Given the description of an element on the screen output the (x, y) to click on. 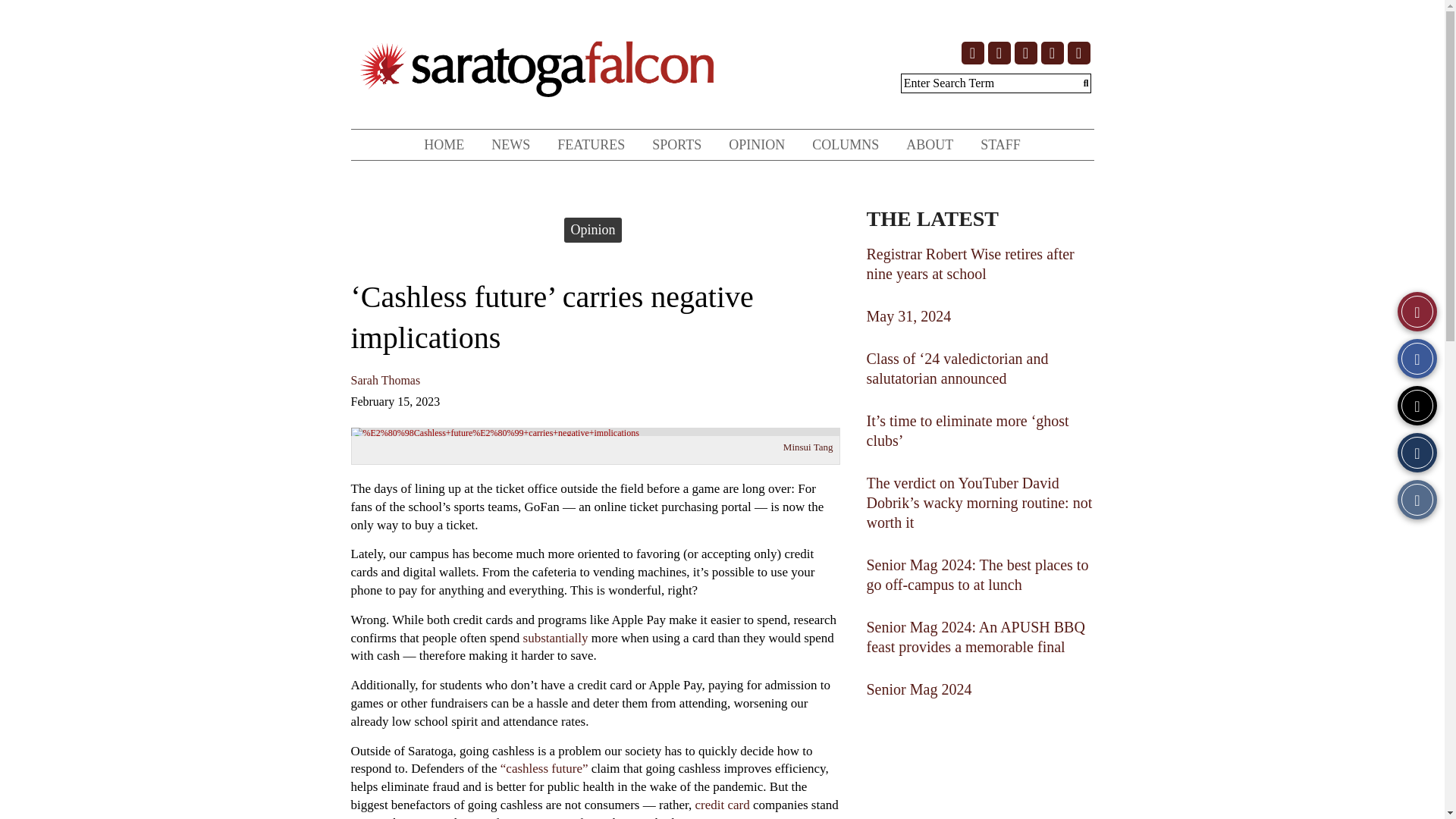
ABOUT (929, 144)
OPINION (755, 144)
STAFF (999, 144)
HOME (443, 144)
FEATURES (591, 144)
COLUMNS (844, 144)
NEWS (510, 144)
SPORTS (676, 144)
